Given the description of an element on the screen output the (x, y) to click on. 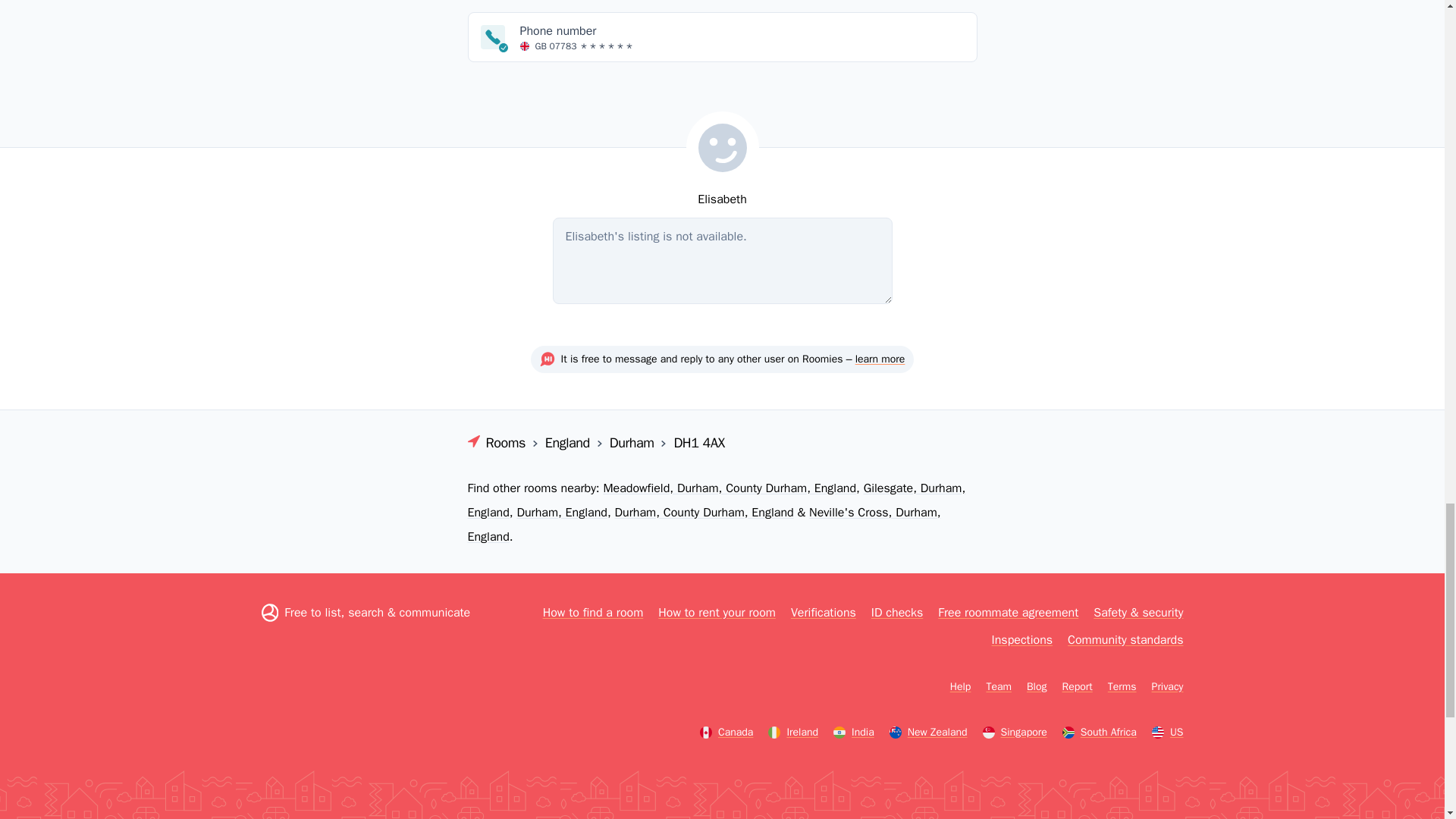
England (569, 442)
Roomies South Africa (1099, 731)
Durham, England (561, 511)
Roomies United States (1167, 731)
Neville's Cross, Durham, England (703, 523)
Roomies Canada (726, 731)
Roomies Ireland (793, 731)
DH1 4AX (697, 442)
Meadowfield, Durham, County Durham, England (729, 487)
Rooms (504, 442)
